Given the description of an element on the screen output the (x, y) to click on. 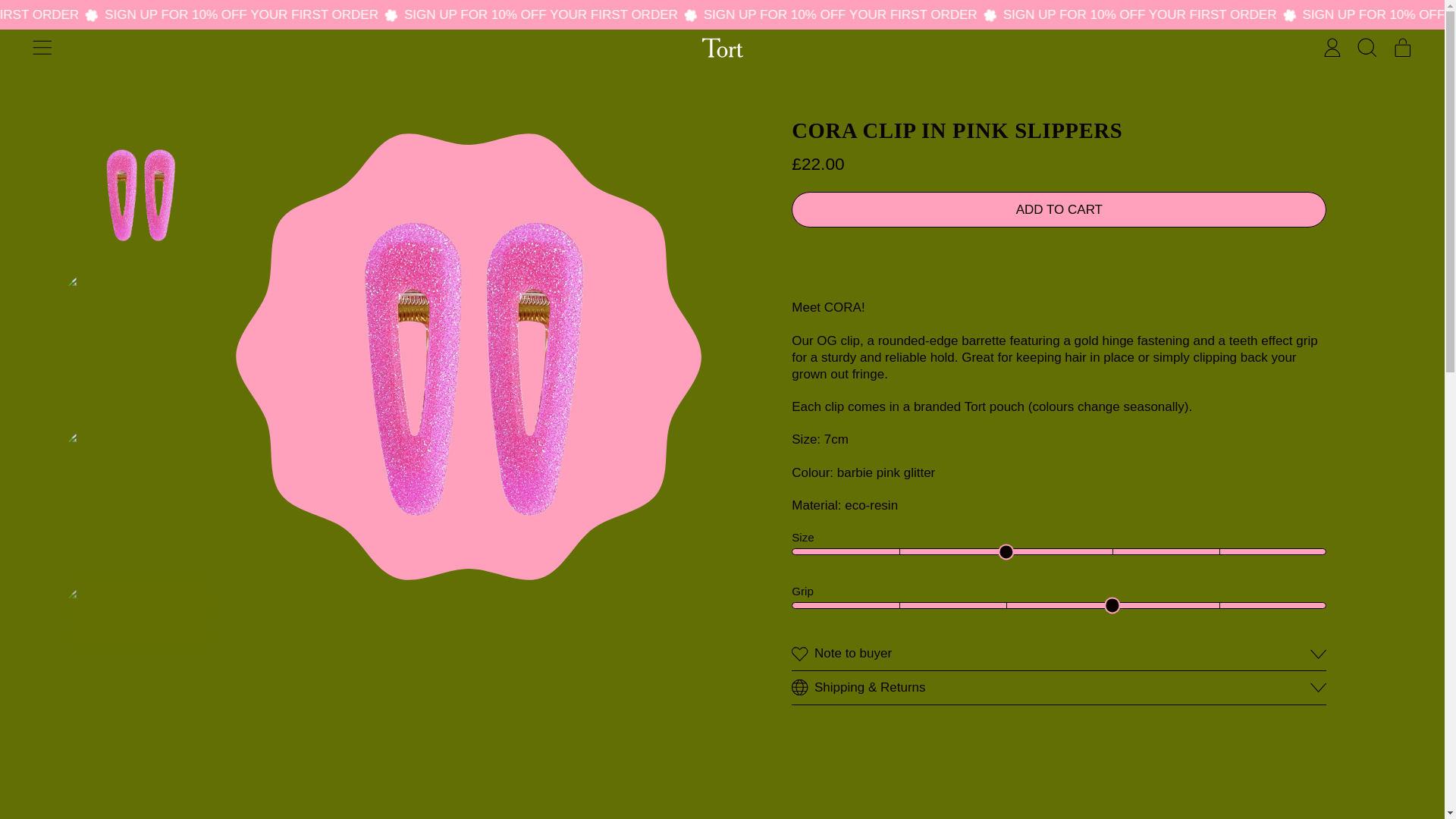
SEARCH OUR SITE (1367, 47)
LOG IN (1402, 47)
MENU (1331, 47)
ADD TO CART (42, 47)
